Given the description of an element on the screen output the (x, y) to click on. 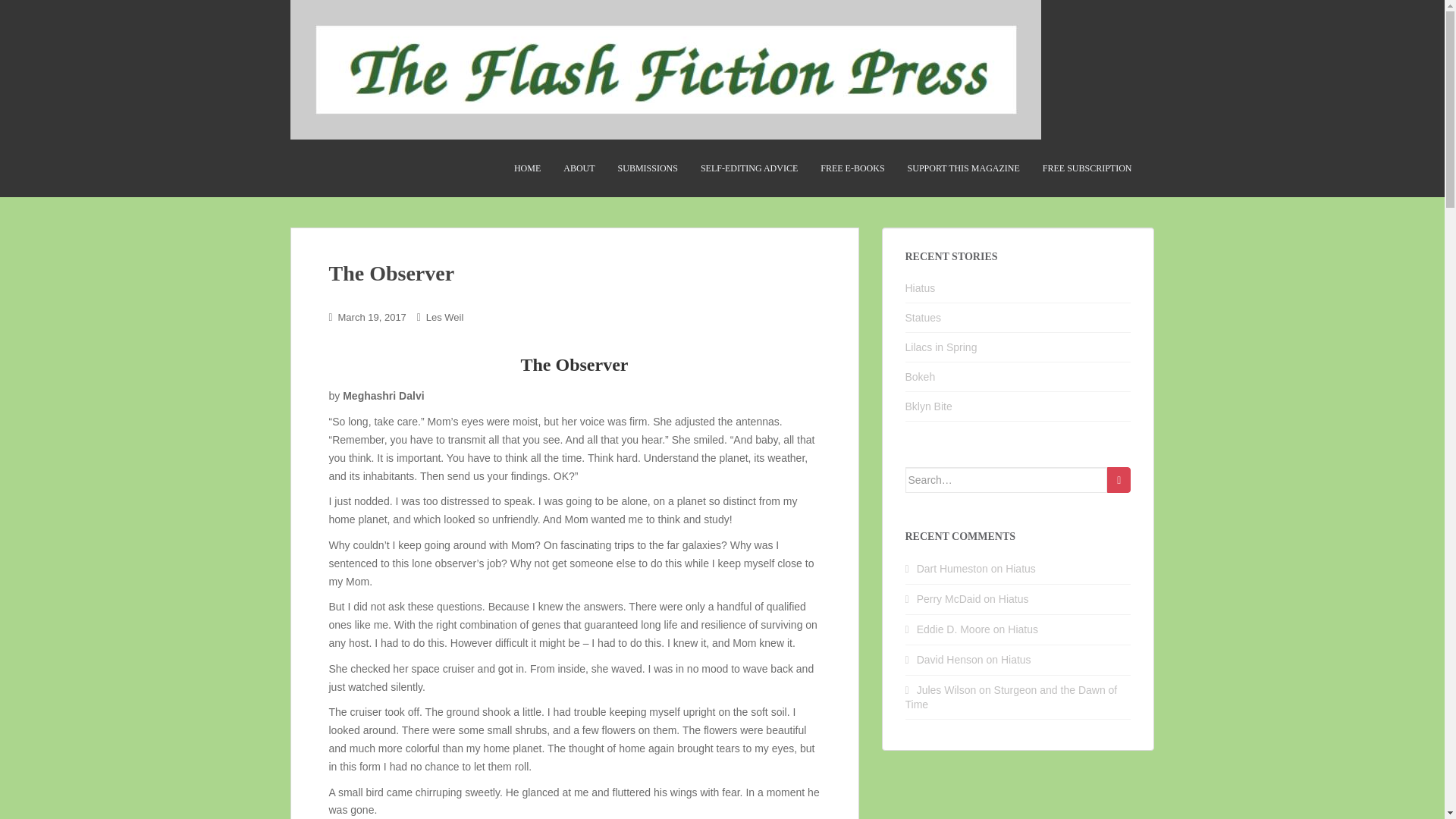
Bokeh (920, 377)
Hiatus (1013, 598)
Free Subscription (1086, 168)
SUBMISSIONS (647, 168)
Home (526, 168)
Support This Magazine (963, 168)
Search (1118, 479)
Submissions (647, 168)
About (578, 168)
David Henson (950, 659)
HOME (526, 168)
Hiatus (1015, 659)
Sturgeon and the Dawn of Time (1011, 696)
Statues (922, 317)
Les Weil (445, 317)
